Given the description of an element on the screen output the (x, y) to click on. 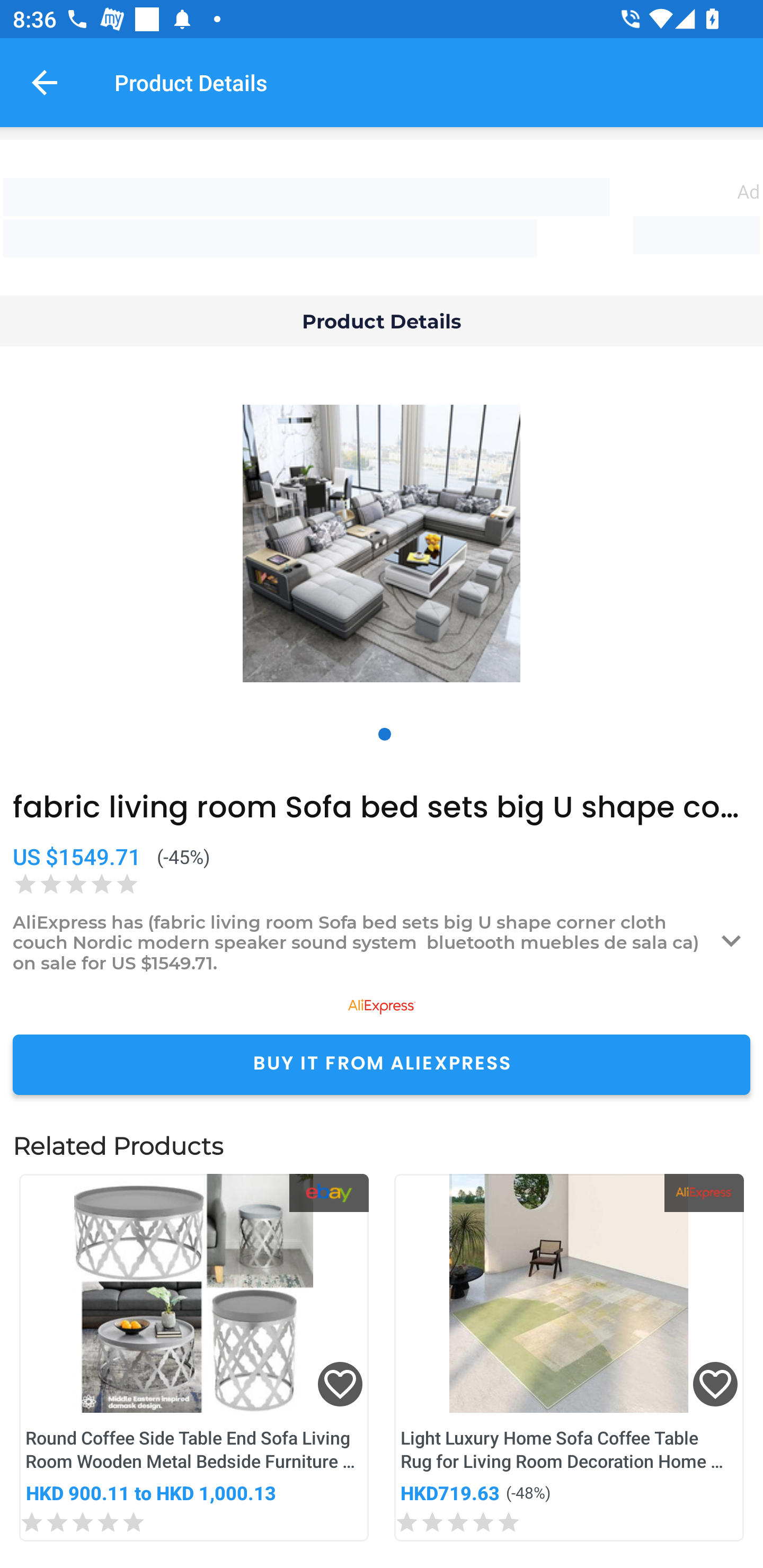
Navigate up (44, 82)
BUY IT FROM ALIEXPRESS (381, 1064)
